Given the description of an element on the screen output the (x, y) to click on. 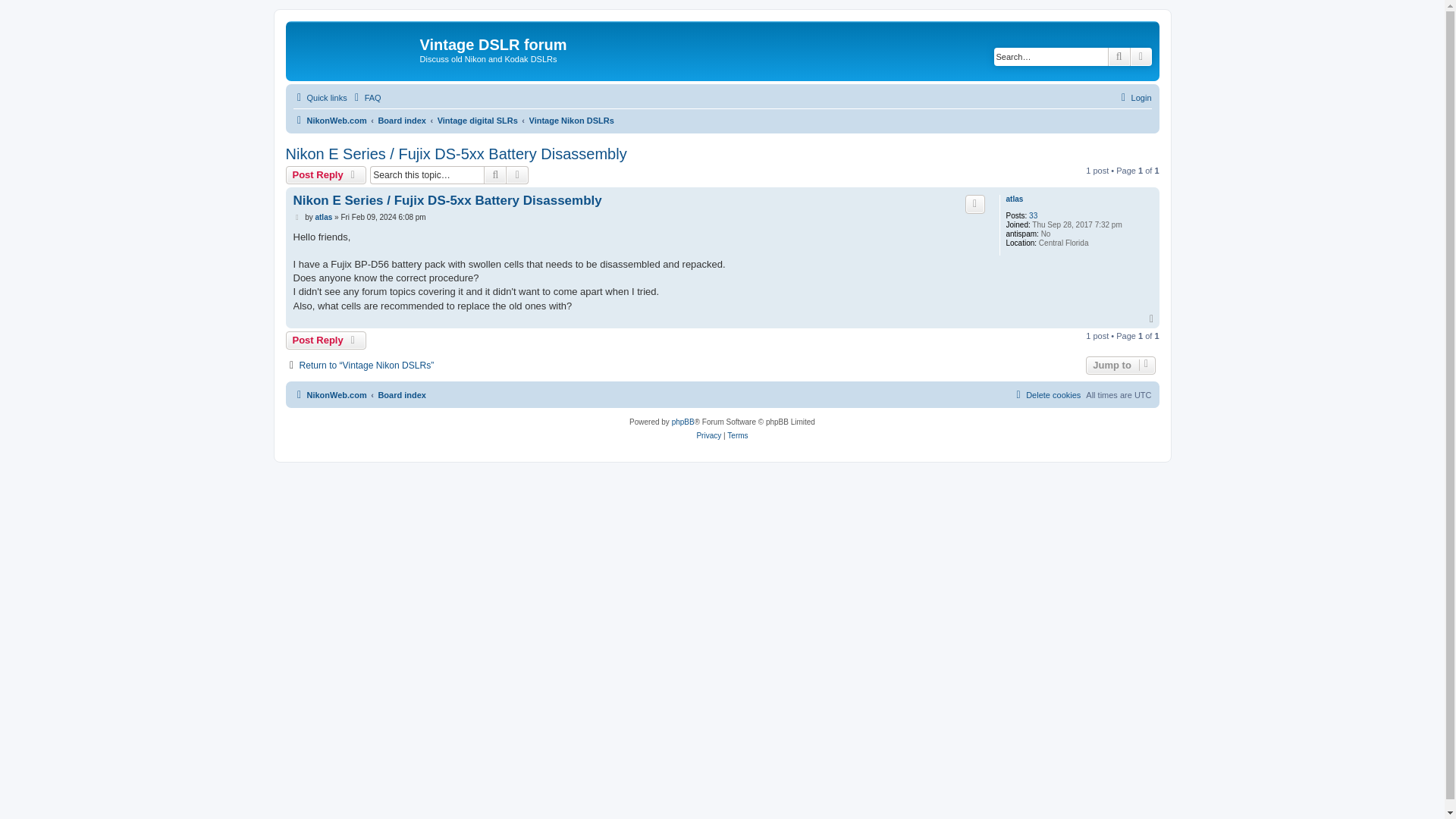
Search (494, 175)
Quick links (319, 97)
33 (1032, 215)
Post (297, 216)
Search (1119, 56)
Post Reply (325, 175)
Advanced search (1141, 56)
Advanced search (517, 175)
atlas (322, 216)
Board index (401, 120)
